Given the description of an element on the screen output the (x, y) to click on. 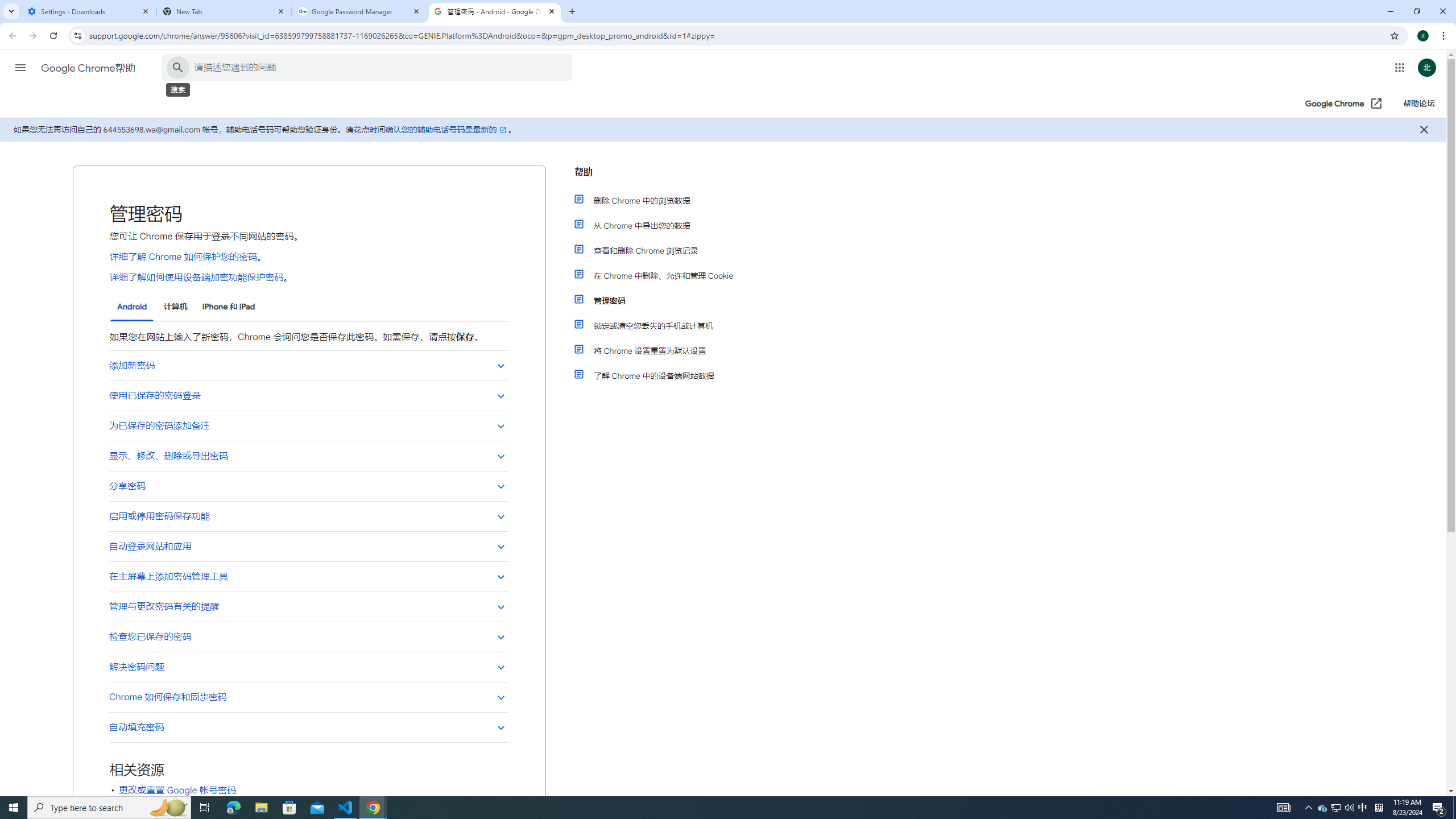
Google Password Manager (359, 11)
